Given the description of an element on the screen output the (x, y) to click on. 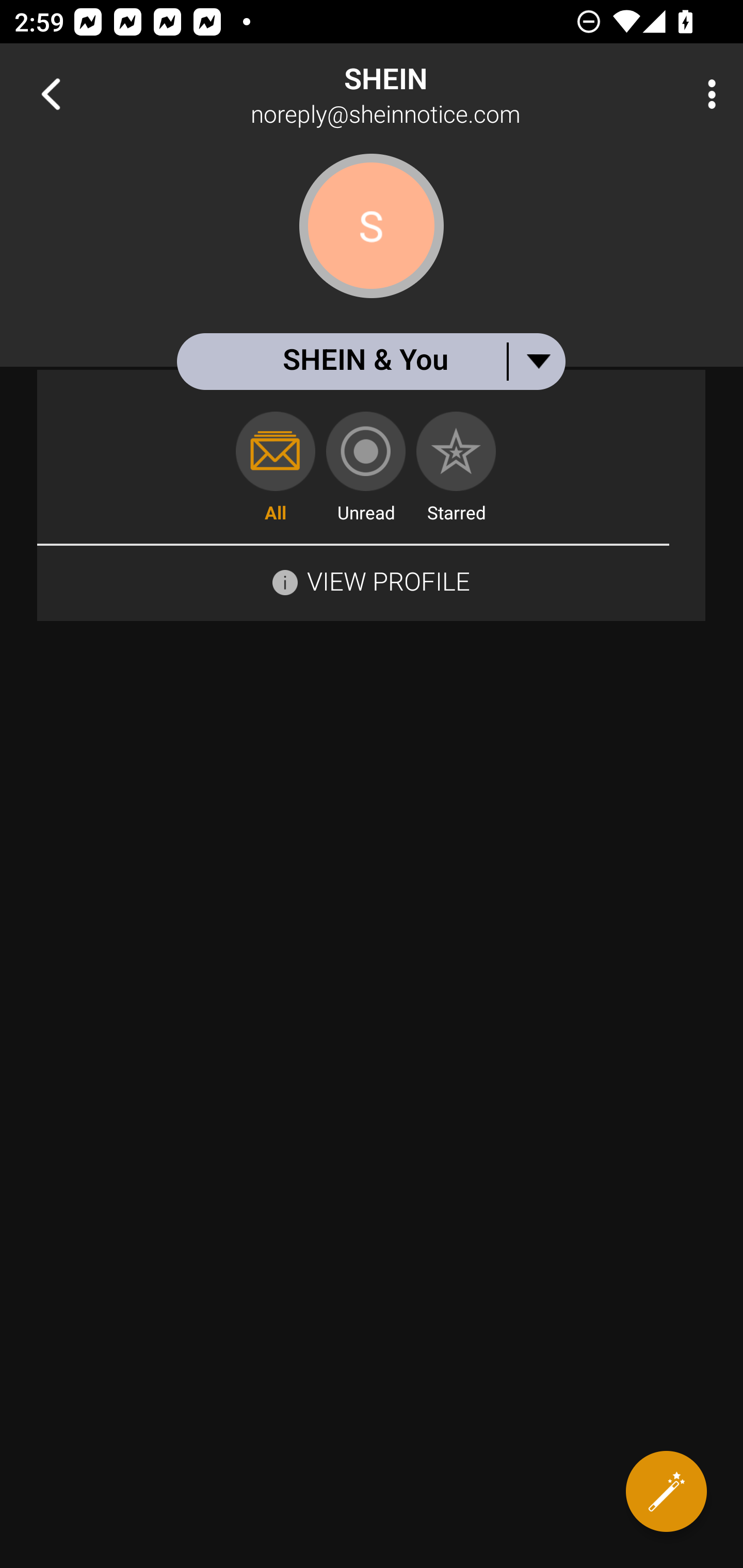
VIEW PROFILE (371, 580)
VIEW PROFILE (388, 580)
